Given the description of an element on the screen output the (x, y) to click on. 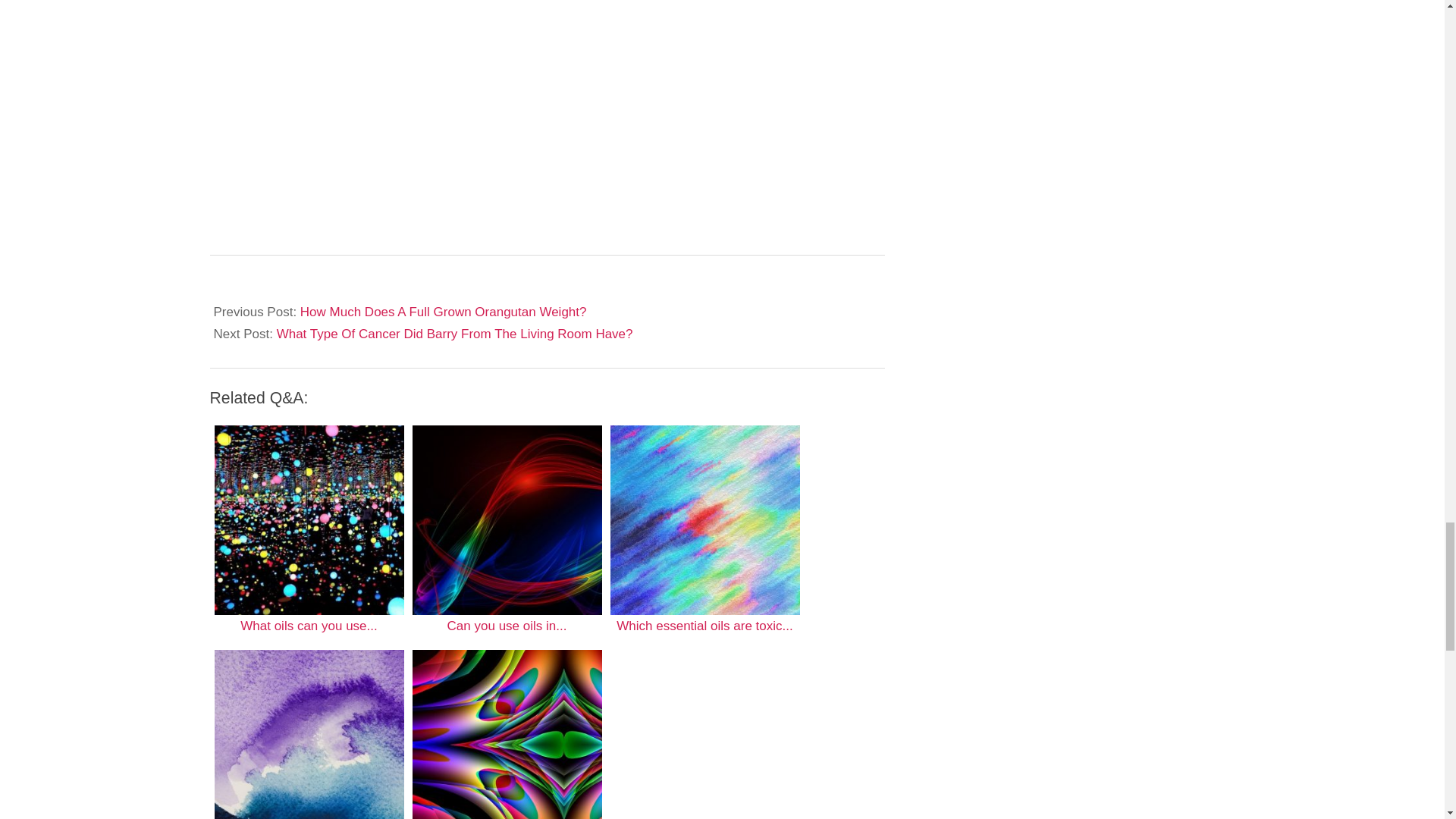
Is bramble berry fragrance oils natural? (507, 734)
Can you use oils in a wax burner? (507, 520)
Which essential oils are toxic to dogs? (704, 520)
YouTube video player (497, 97)
What oils can you use in a diffuser? (308, 520)
Which oils are moisturizing? (308, 734)
